Given the description of an element on the screen output the (x, y) to click on. 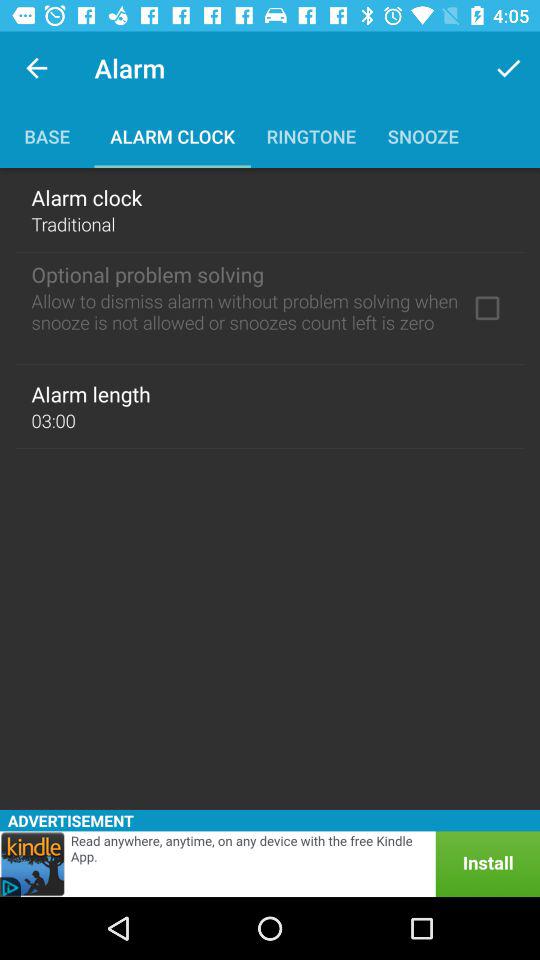
toggle optional problem solving (487, 308)
